Given the description of an element on the screen output the (x, y) to click on. 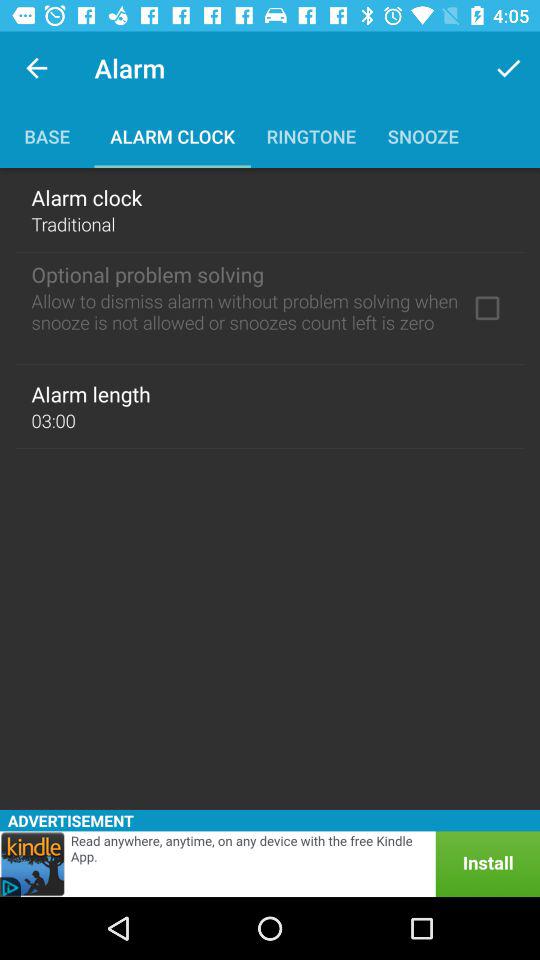
toggle optional problem solving (487, 308)
